Given the description of an element on the screen output the (x, y) to click on. 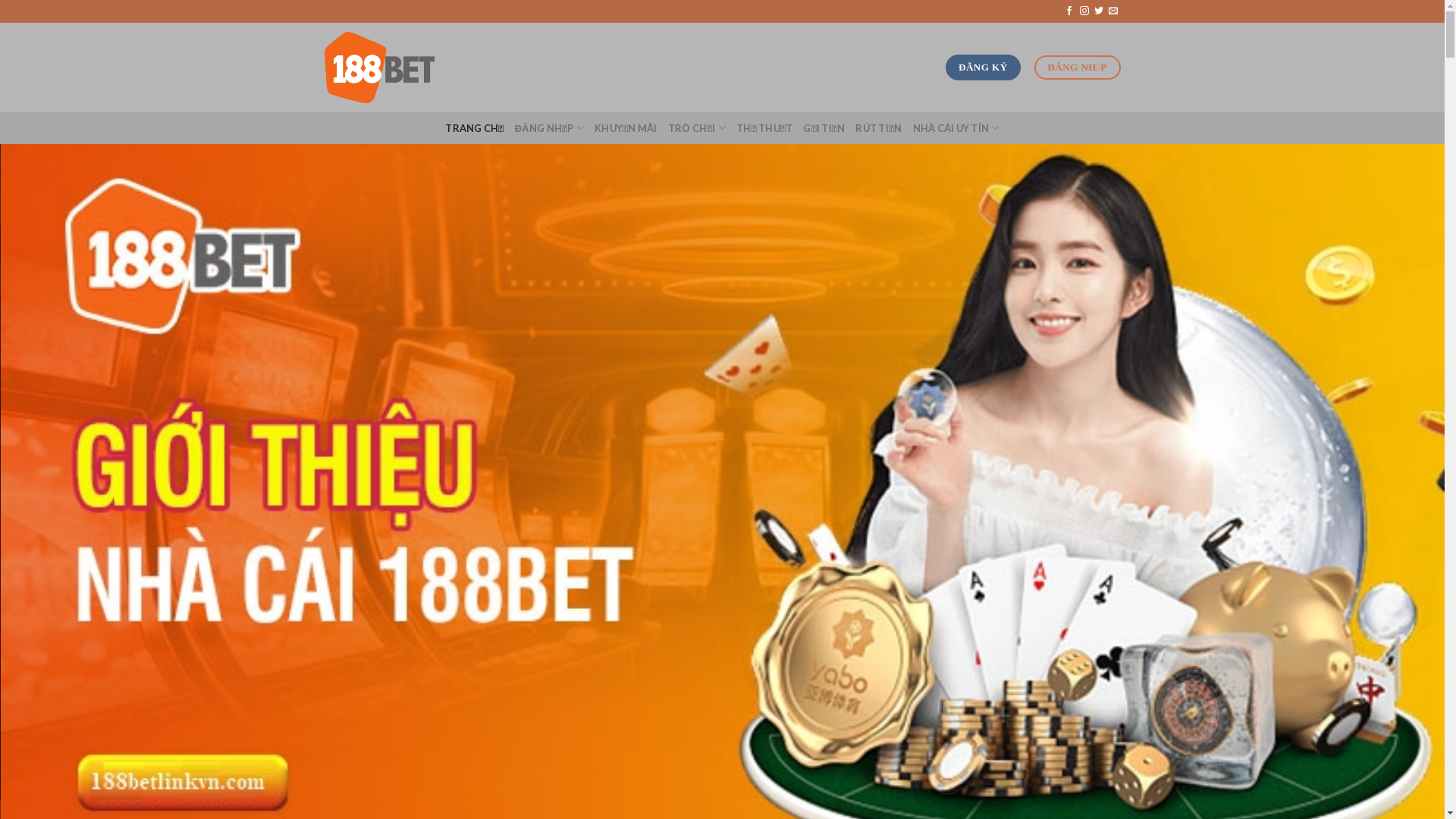
Follow on Instagram Element type: hover (1083, 11)
Follow on Twitter Element type: hover (1098, 11)
Send us an email Element type: hover (1112, 11)
Follow on Facebook Element type: hover (1068, 11)
